Given the description of an element on the screen output the (x, y) to click on. 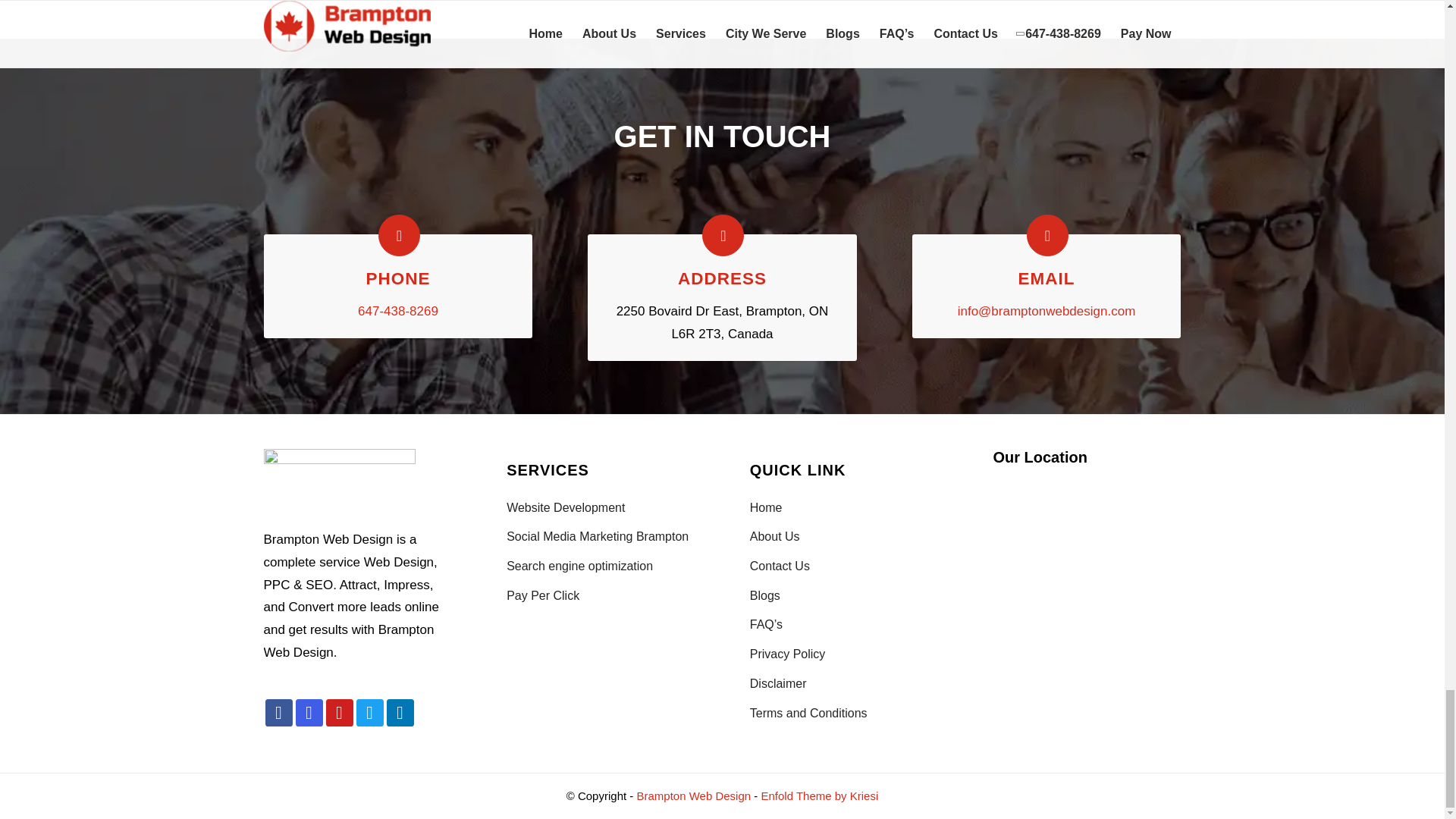
YouTube (339, 712)
twitter (370, 712)
LinkedIn (400, 712)
647-438-8269 (398, 310)
instagram (309, 712)
Facebook (278, 712)
